Given the description of an element on the screen output the (x, y) to click on. 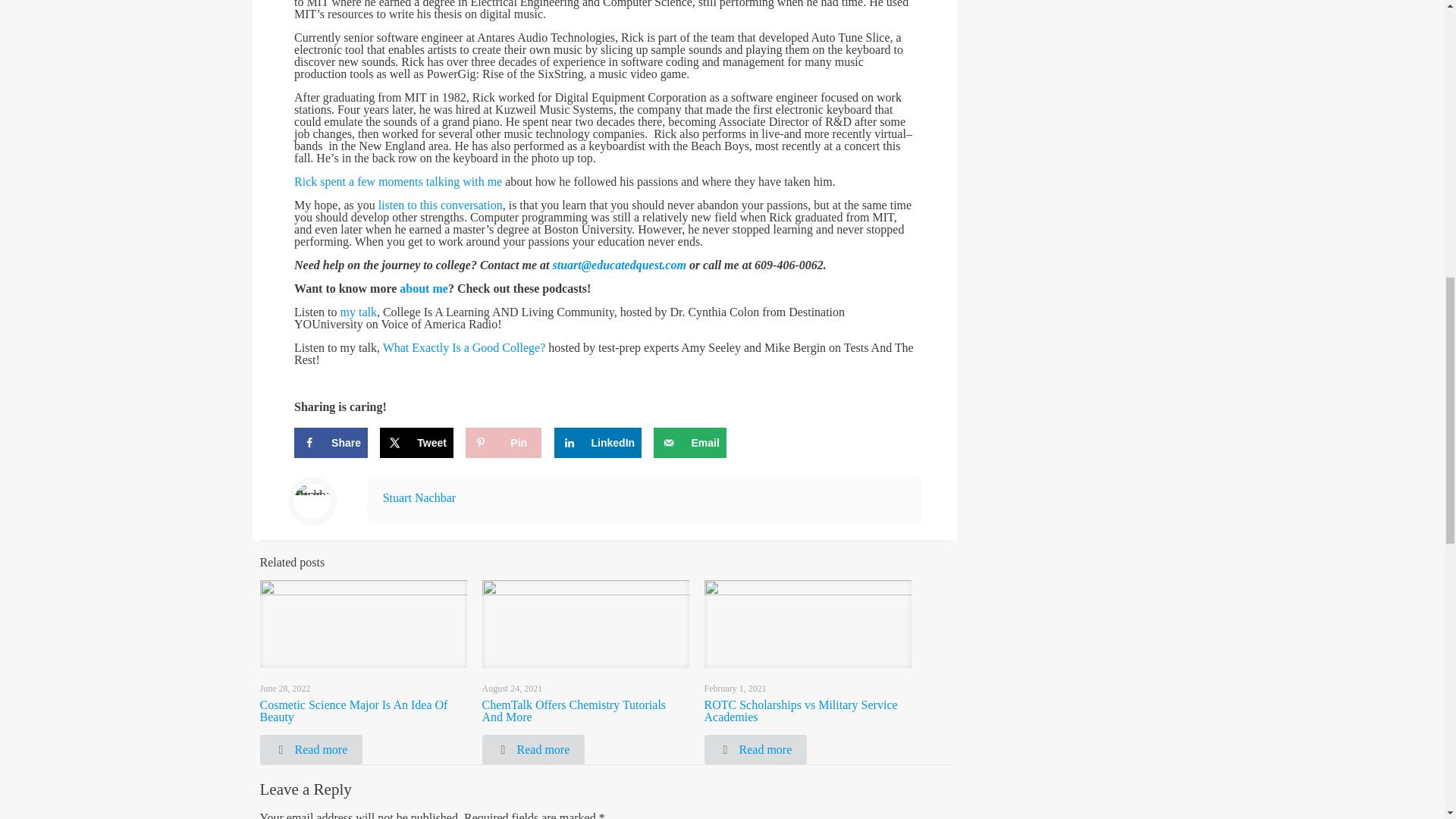
What Exactly Is a Good College? (464, 347)
Share (331, 442)
Send over email (689, 442)
Save to Pinterest (503, 442)
listen to this conversation (440, 205)
about me (423, 287)
Share on LinkedIn (598, 442)
my talk (357, 311)
Share on X (416, 442)
Share on Facebook (331, 442)
Pin (503, 442)
Rick spent a few moments talking with me (398, 181)
Tweet (416, 442)
